Given the description of an element on the screen output the (x, y) to click on. 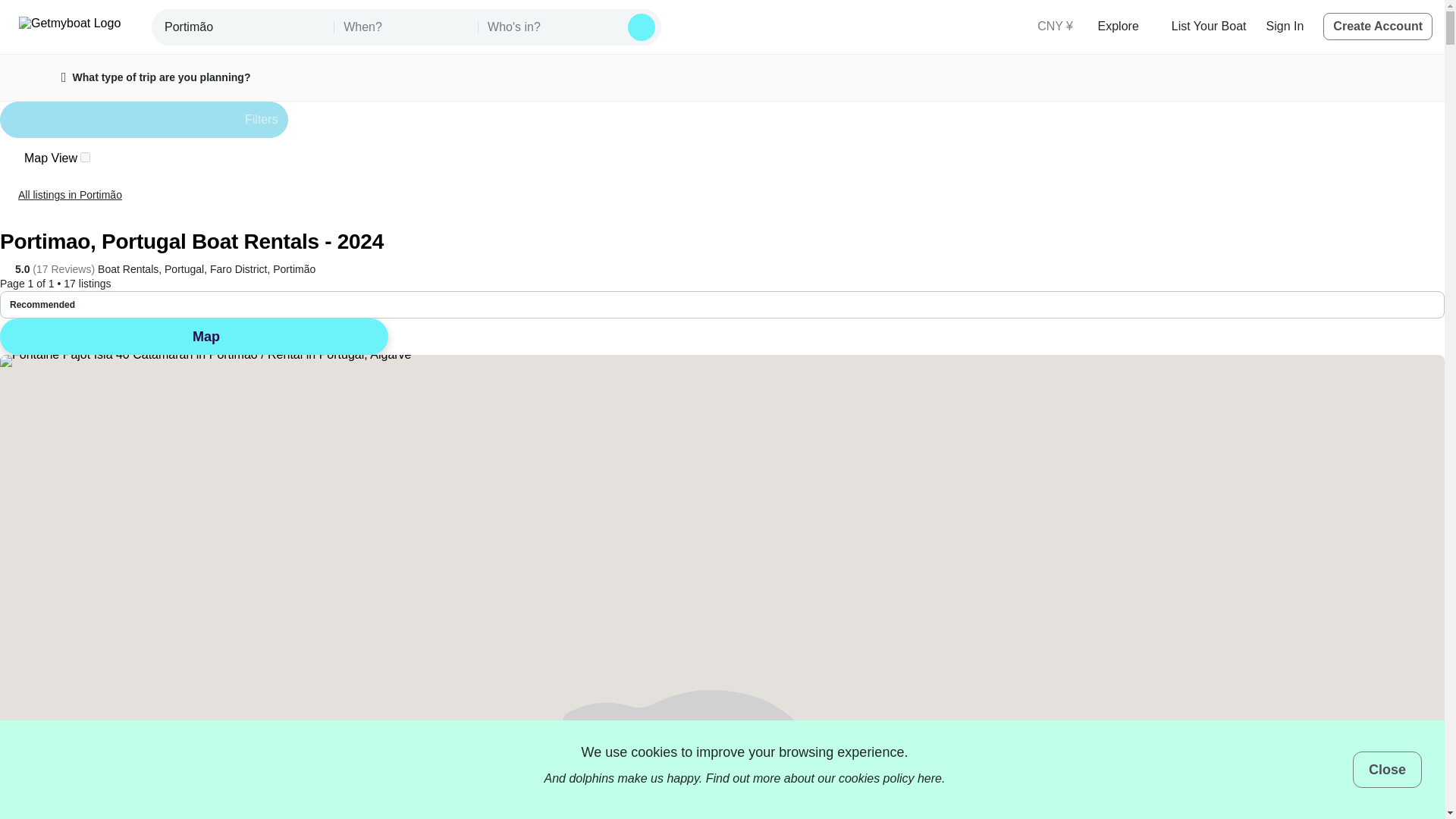
Filters (144, 119)
Portugal (183, 269)
Close (1387, 769)
Boat Rentals (127, 269)
Sign In (1285, 26)
on (85, 157)
Search (641, 26)
Explore (1123, 25)
Map (194, 336)
cookies policy here (890, 778)
